Given the description of an element on the screen output the (x, y) to click on. 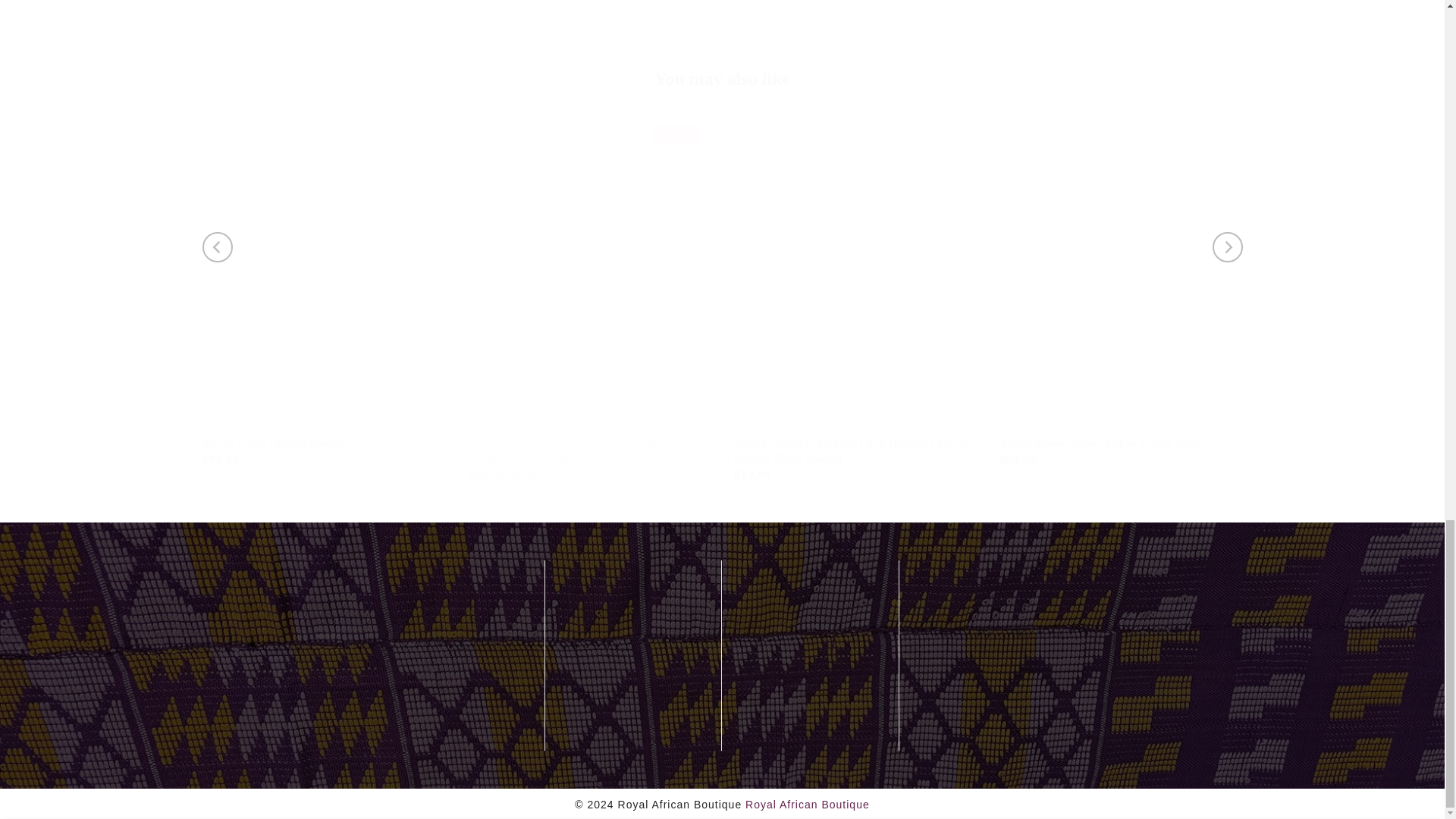
Follow on Instagram (295, 741)
Follow on Yelp (255, 741)
Follow on Pinterest (337, 741)
Follow on Facebook (214, 741)
